Given the description of an element on the screen output the (x, y) to click on. 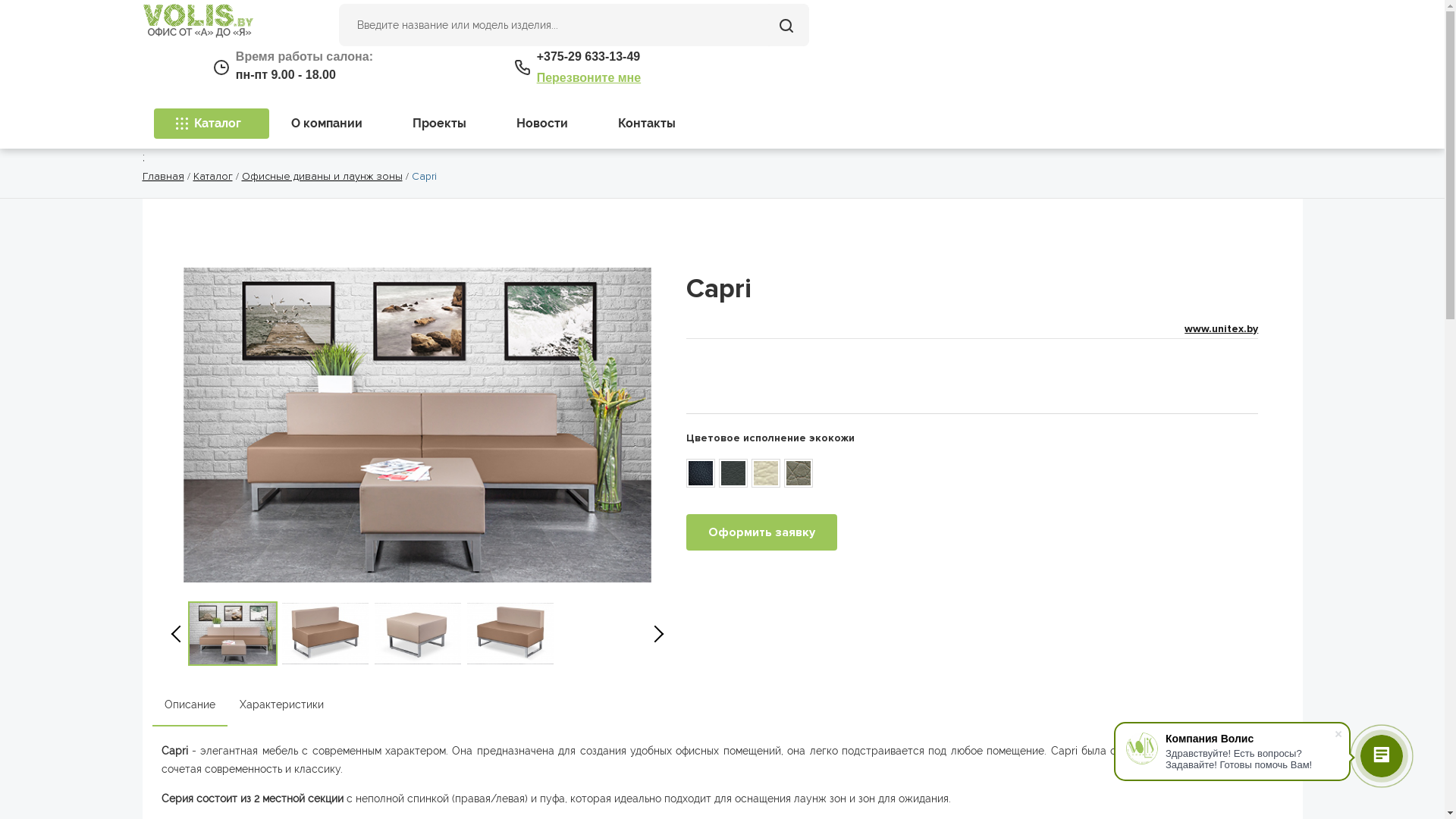
www.unitex.by Element type: text (1221, 329)
+375-29 633-13-49 Element type: text (588, 56)
